Given the description of an element on the screen output the (x, y) to click on. 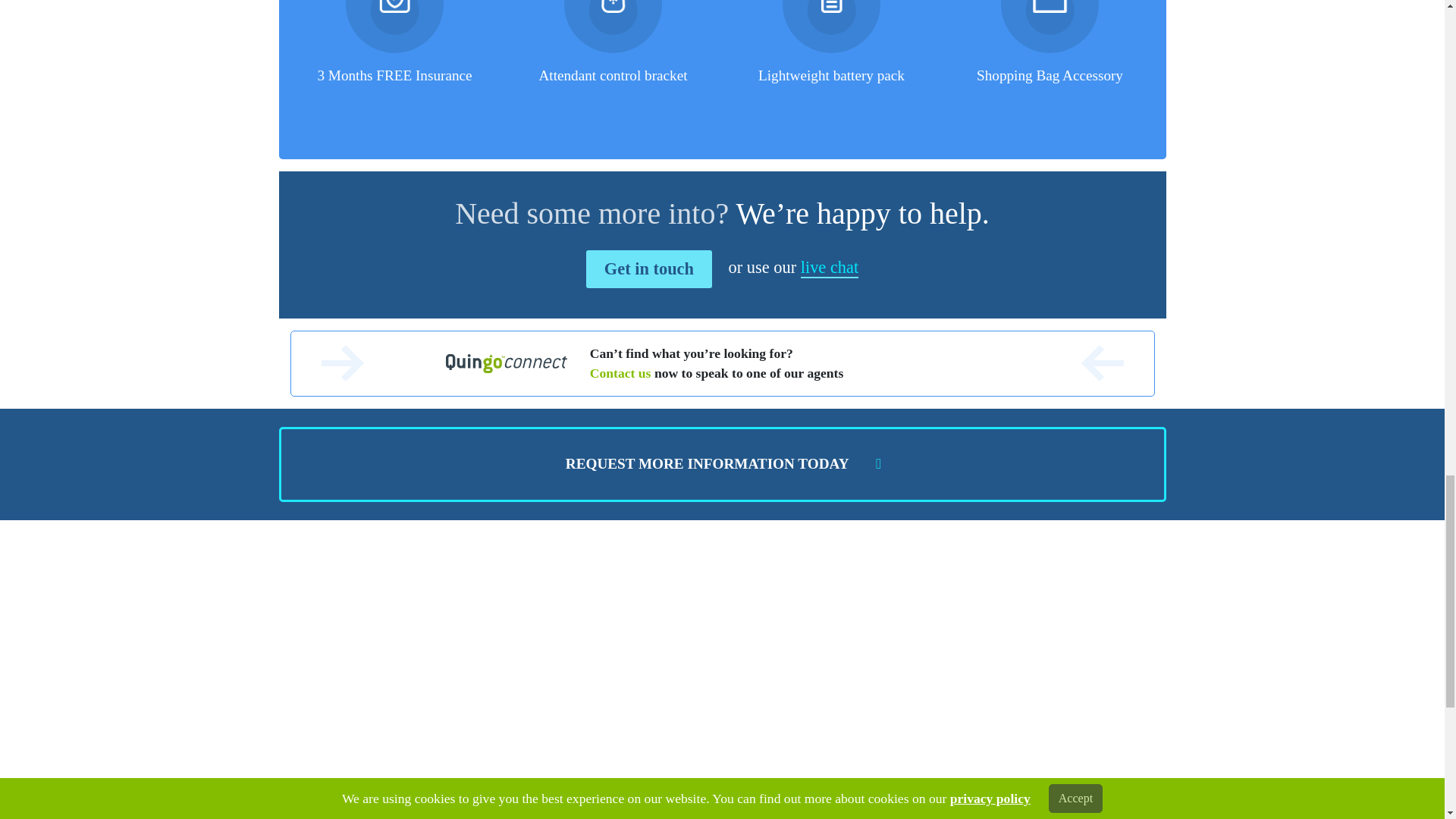
Contact us (619, 372)
Get in touch (648, 269)
live chat (829, 267)
REQUEST MORE INFORMATION TODAY (722, 464)
